Given the description of an element on the screen output the (x, y) to click on. 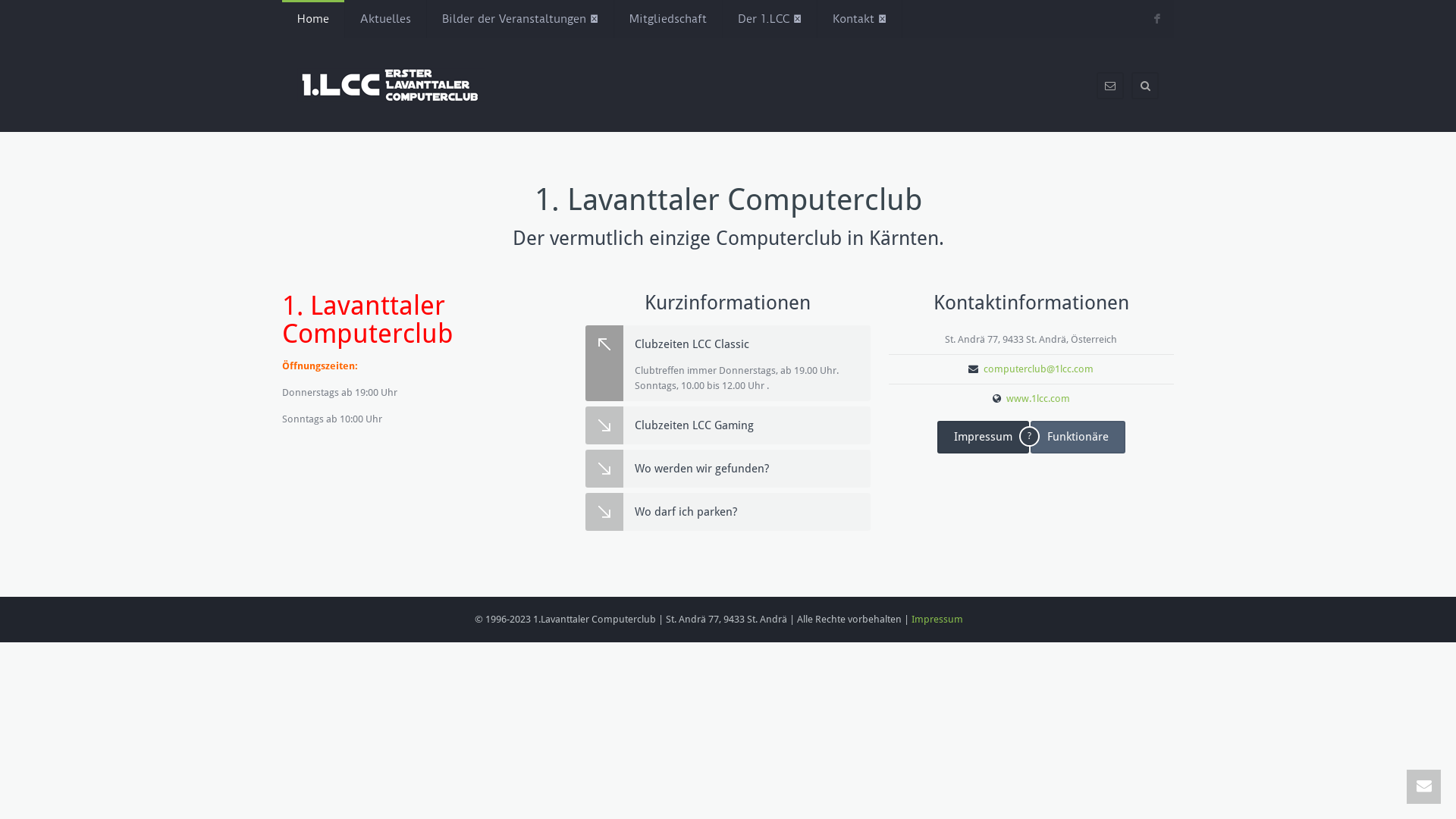
F Element type: text (1156, 19)
Impressum Element type: text (937, 618)
1. Lavanttaler Computerclub Element type: hover (391, 84)
Aktuelles Element type: text (385, 18)
Impressum Element type: text (983, 436)
www.1lcc.com Element type: text (1038, 398)
Home Element type: text (313, 18)
Mitgliedschaft Element type: text (667, 18)
computerclub@1lcc.com Element type: text (1038, 368)
